Given the description of an element on the screen output the (x, y) to click on. 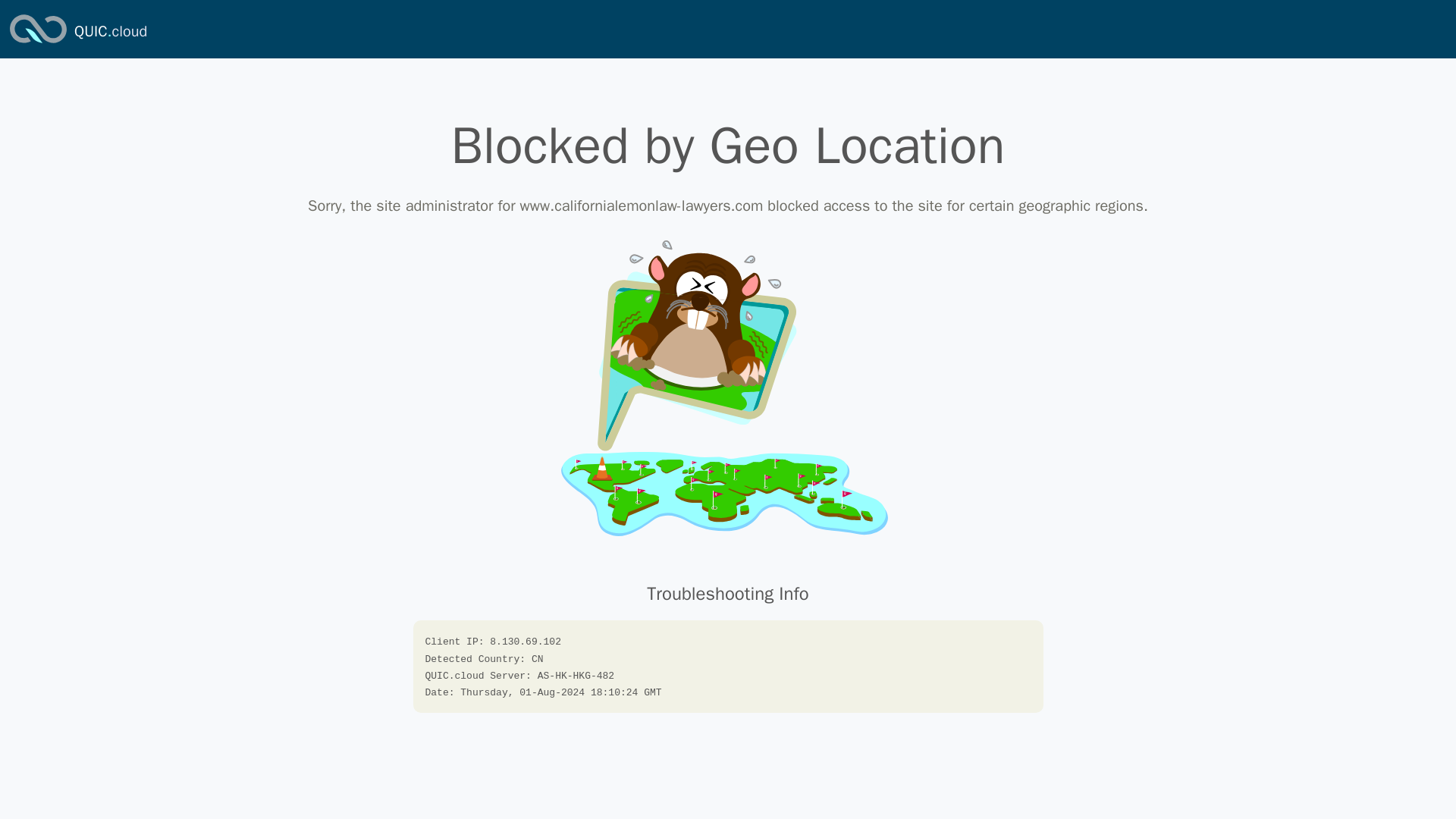
QUIC.cloud (110, 31)
QUIC.cloud (110, 31)
QUIC.cloud (37, 43)
